Given the description of an element on the screen output the (x, y) to click on. 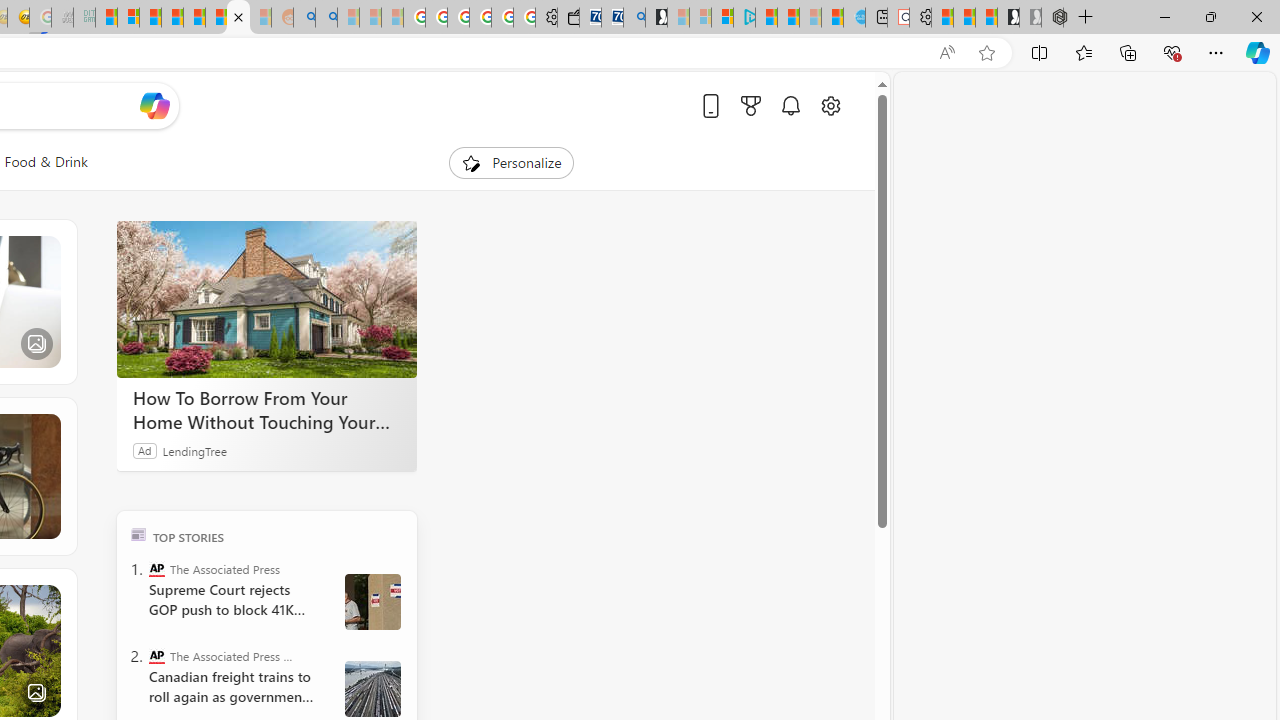
Microsoft Start - Sleeping (810, 17)
Cheap Car Rentals - Save70.com (612, 17)
Home | Sky Blue Bikes - Sky Blue Bikes (854, 17)
To get missing image descriptions, open the context menu. (471, 162)
The Associated Press - Business News (156, 655)
Food & Drink (45, 162)
Microsoft rewards (749, 105)
Personalize (511, 162)
